Given the description of an element on the screen output the (x, y) to click on. 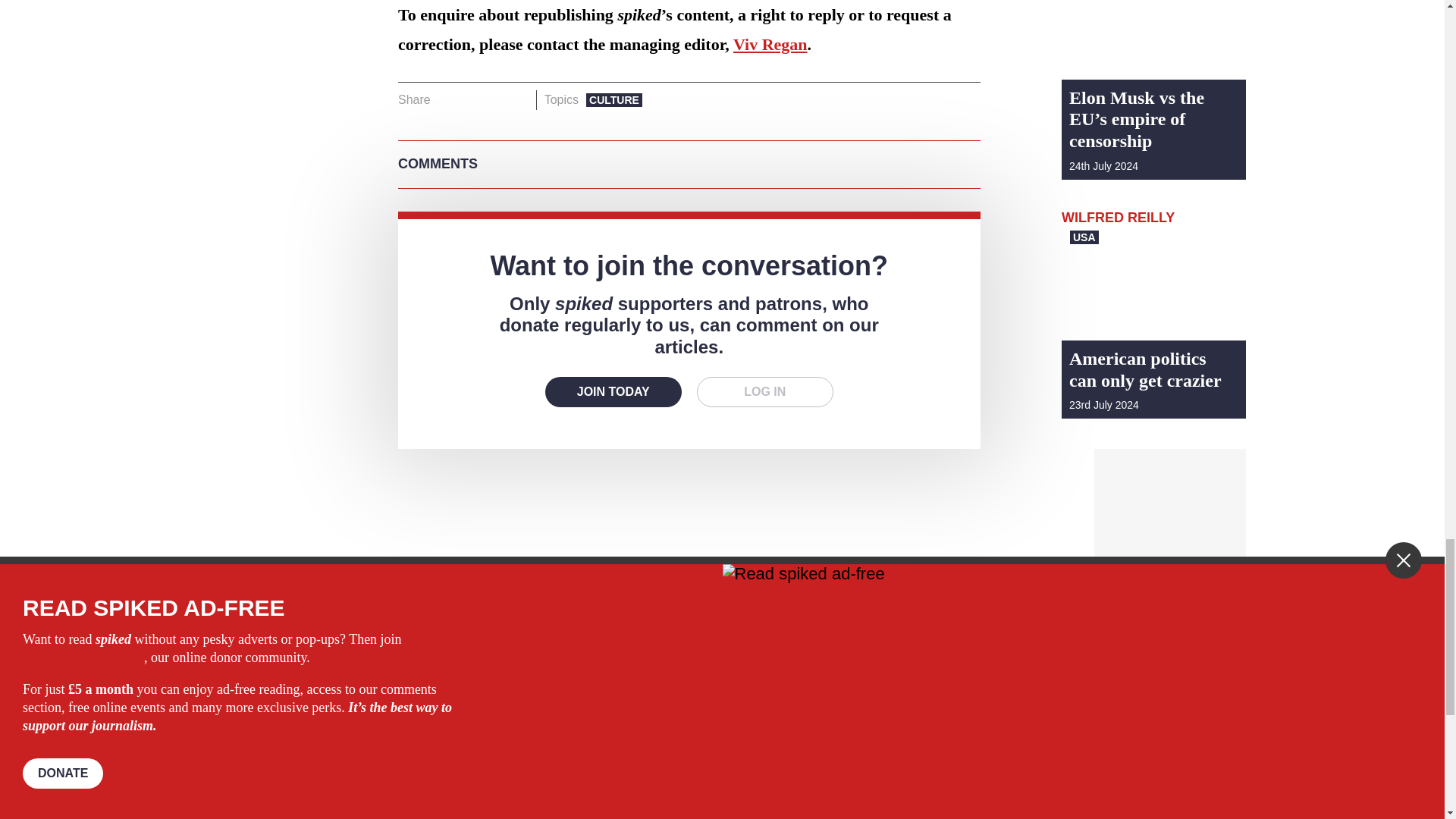
Share on Email (518, 99)
Share on Twitter (471, 99)
Share on Whatsapp (494, 99)
Share on Facebook (448, 99)
